Given the description of an element on the screen output the (x, y) to click on. 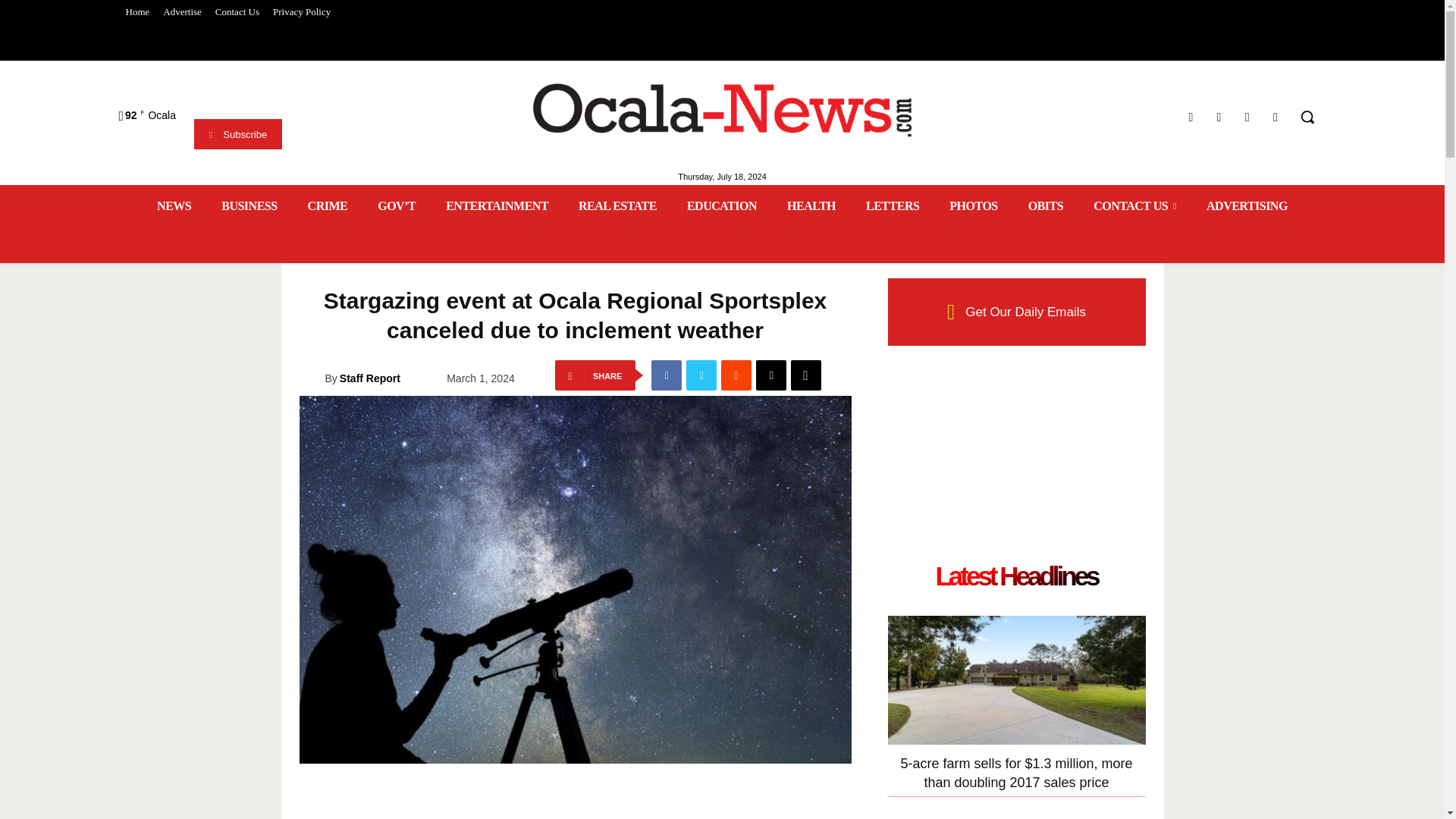
Facebook (1190, 117)
Ocala-News.com (721, 109)
Youtube (1275, 117)
Twitter (1246, 117)
Instagram (1218, 117)
Subscribe (237, 133)
